Given the description of an element on the screen output the (x, y) to click on. 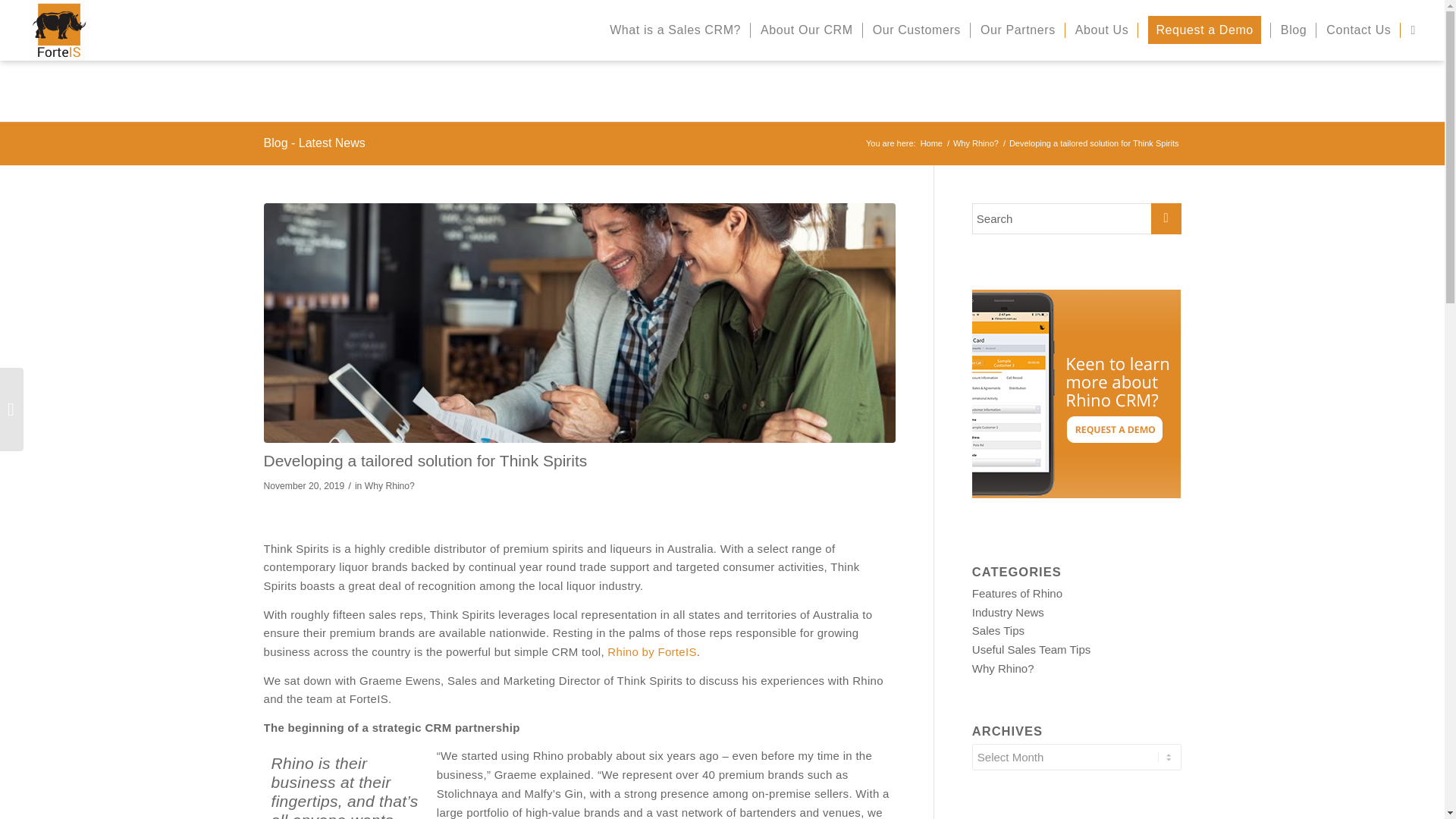
About Our CRM (807, 30)
Permanent Link: Blog - Latest News (314, 142)
ForteIS (931, 143)
What is a Sales CRM? (675, 30)
Our Customers (917, 30)
